Given the description of an element on the screen output the (x, y) to click on. 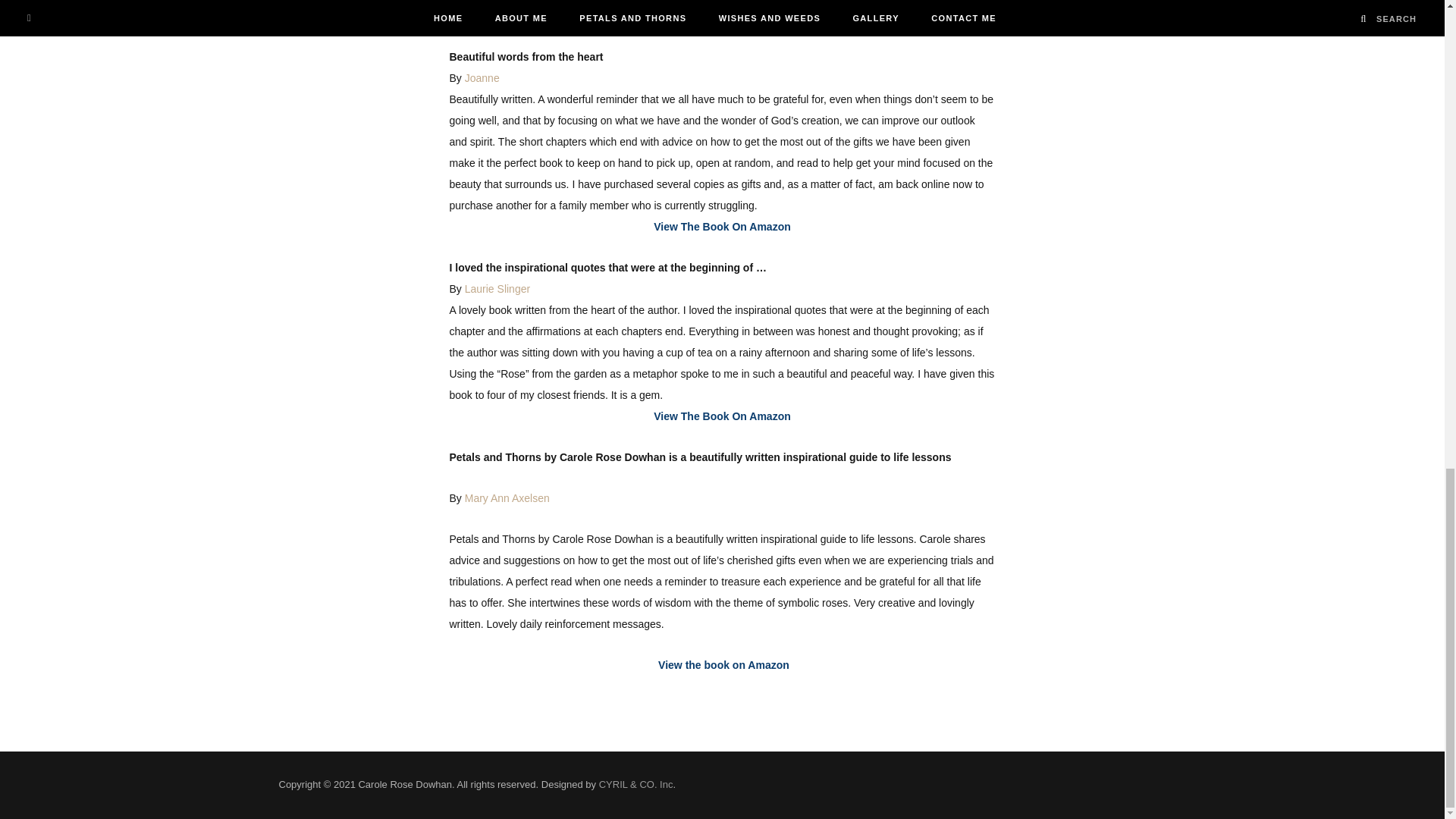
 View the book on Amazon (722, 664)
View The Book On Amazon (721, 416)
Mary Ann Axelsen (507, 498)
Joanne (481, 78)
Laurie Slinger (496, 288)
View The Book On Amazon (721, 226)
